Given the description of an element on the screen output the (x, y) to click on. 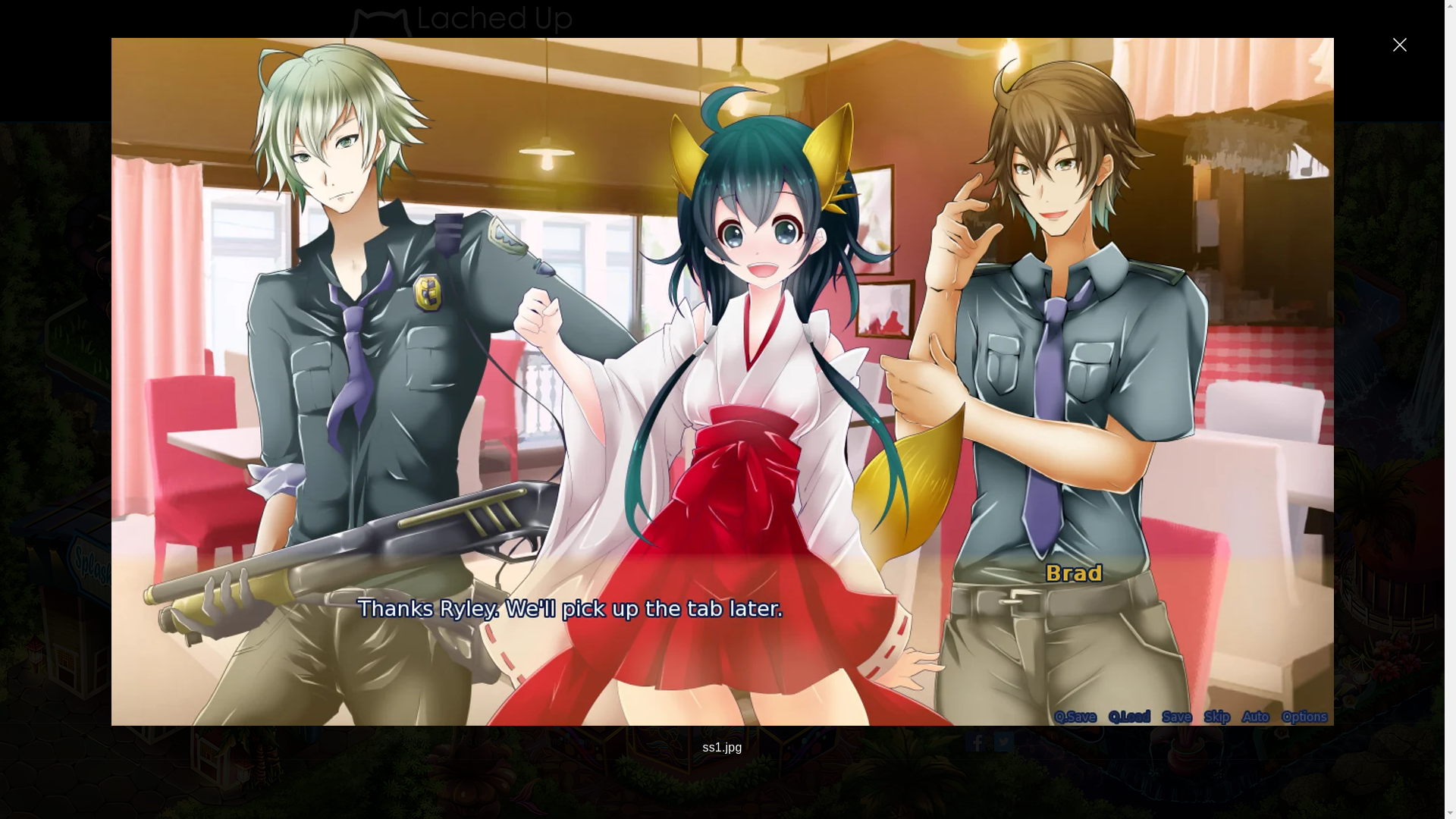
ss4.jpg Element type: hover (815, 455)
Contact Us Element type: text (1038, 78)
Alluna and Brie Element type: text (738, 78)
Max's Big Bust 2 Element type: text (638, 78)
capsule_main2.png Element type: hover (898, 215)
Embedded Content Element type: hover (742, 602)
Max's Big Bust Element type: text (838, 78)
The Team Element type: text (938, 78)
ss2.jpg Element type: hover (982, 455)
ss1.jpg Element type: hover (982, 344)
